Given the description of an element on the screen output the (x, y) to click on. 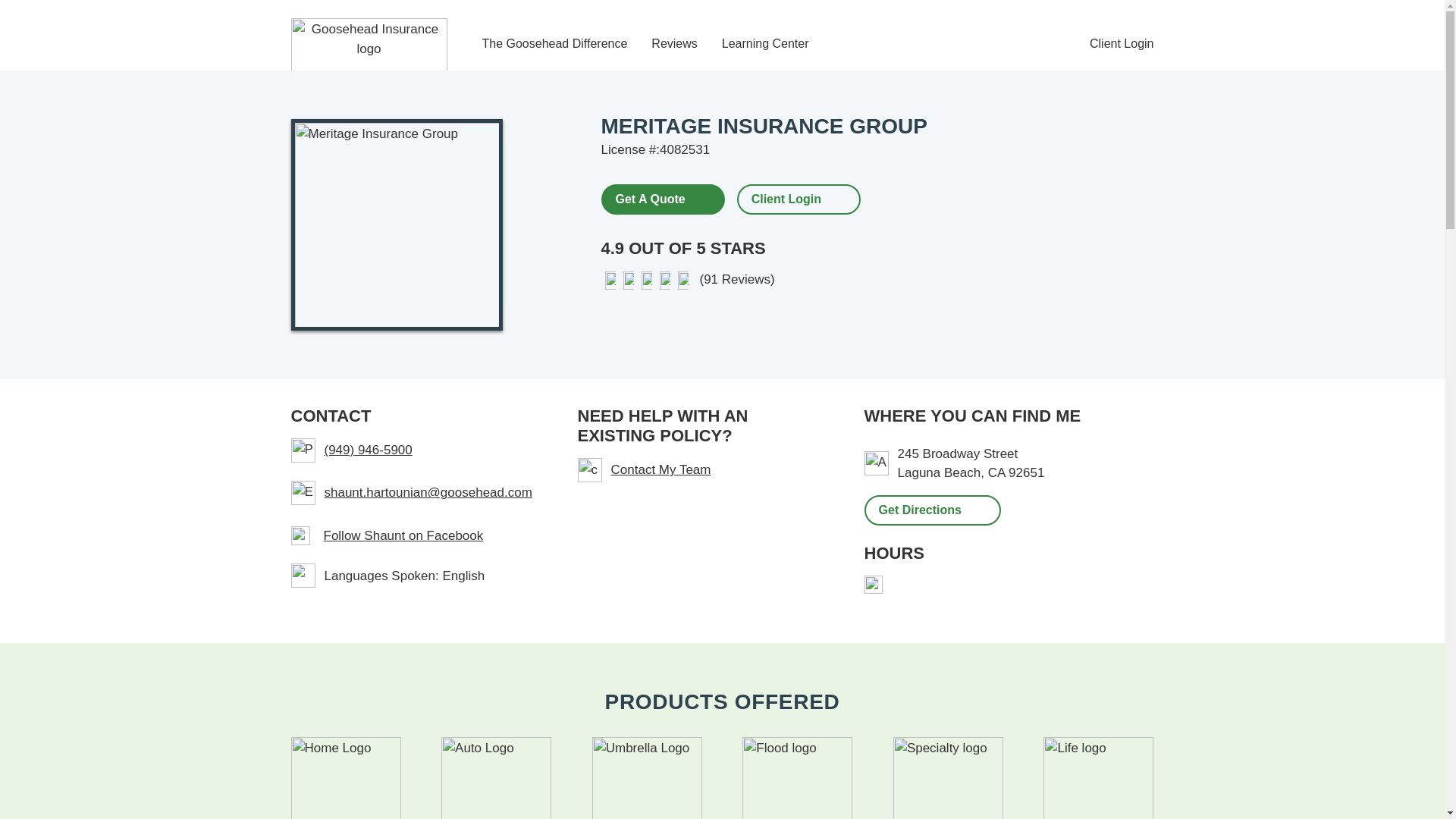
California (997, 472)
LIFE (1098, 778)
Learning Center (765, 44)
FLOOD (796, 778)
Client Login (1121, 44)
Client Login (786, 198)
Contact My Team (703, 469)
HOME (346, 778)
UMBRELLA (646, 778)
The Goosehead Difference (554, 44)
AUTO (496, 778)
Get A Quote (661, 198)
Get Directions (932, 510)
Reviews (673, 44)
